Given the description of an element on the screen output the (x, y) to click on. 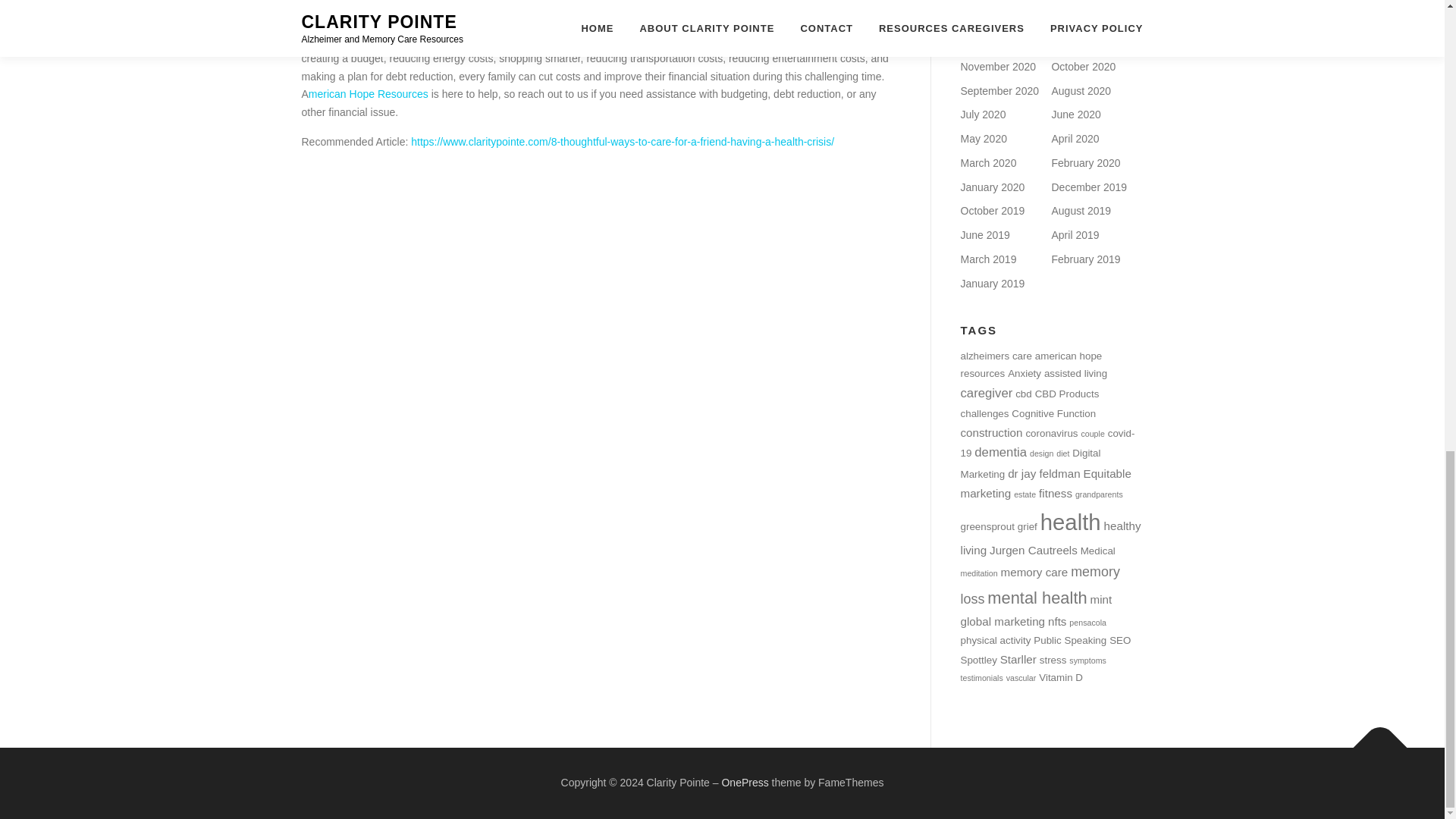
merican Hope Resources (368, 93)
February 2021 (1085, 18)
March 2021 (987, 18)
Back To Top (1372, 740)
